Given the description of an element on the screen output the (x, y) to click on. 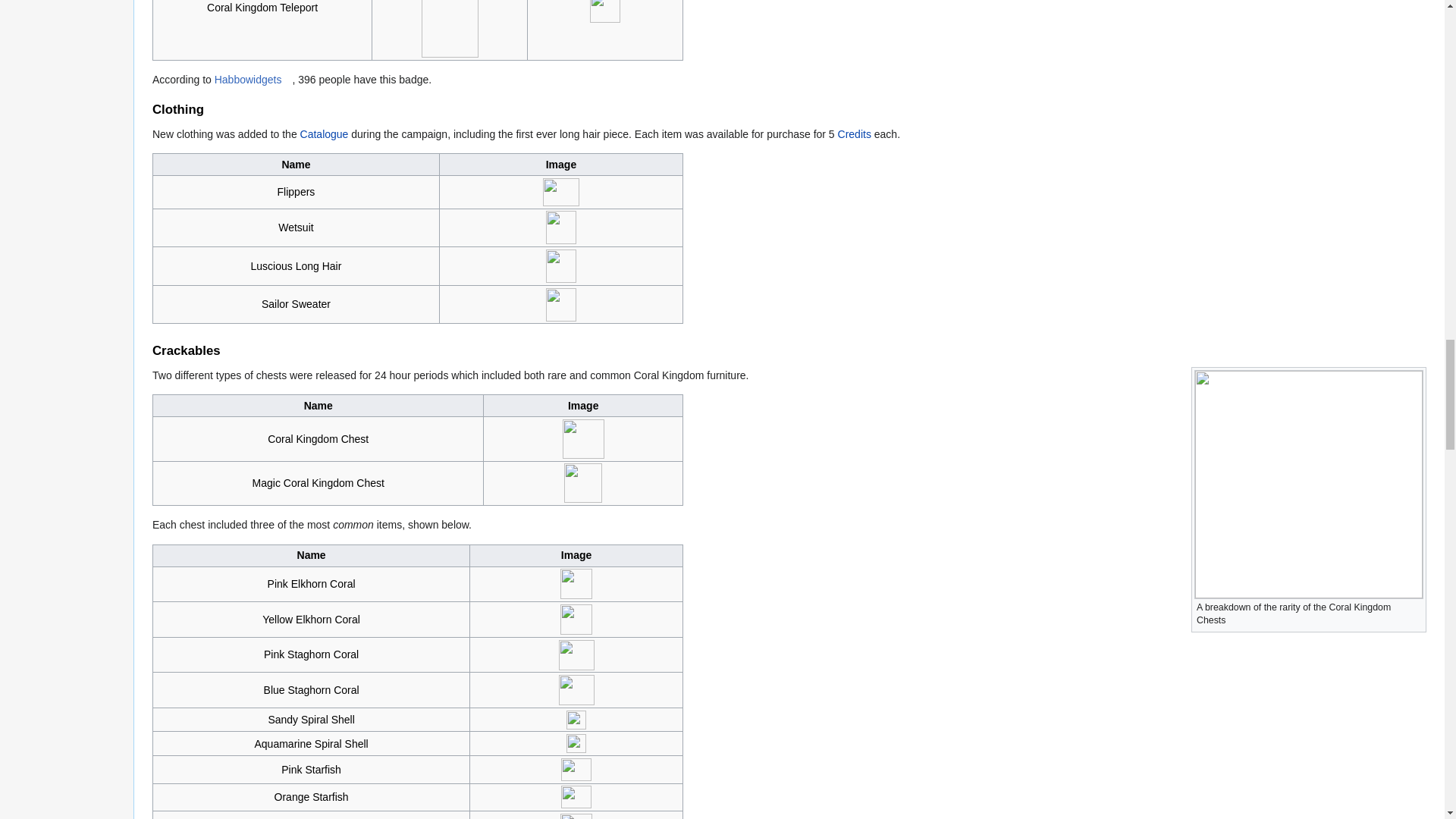
Catalogue (324, 133)
